Given the description of an element on the screen output the (x, y) to click on. 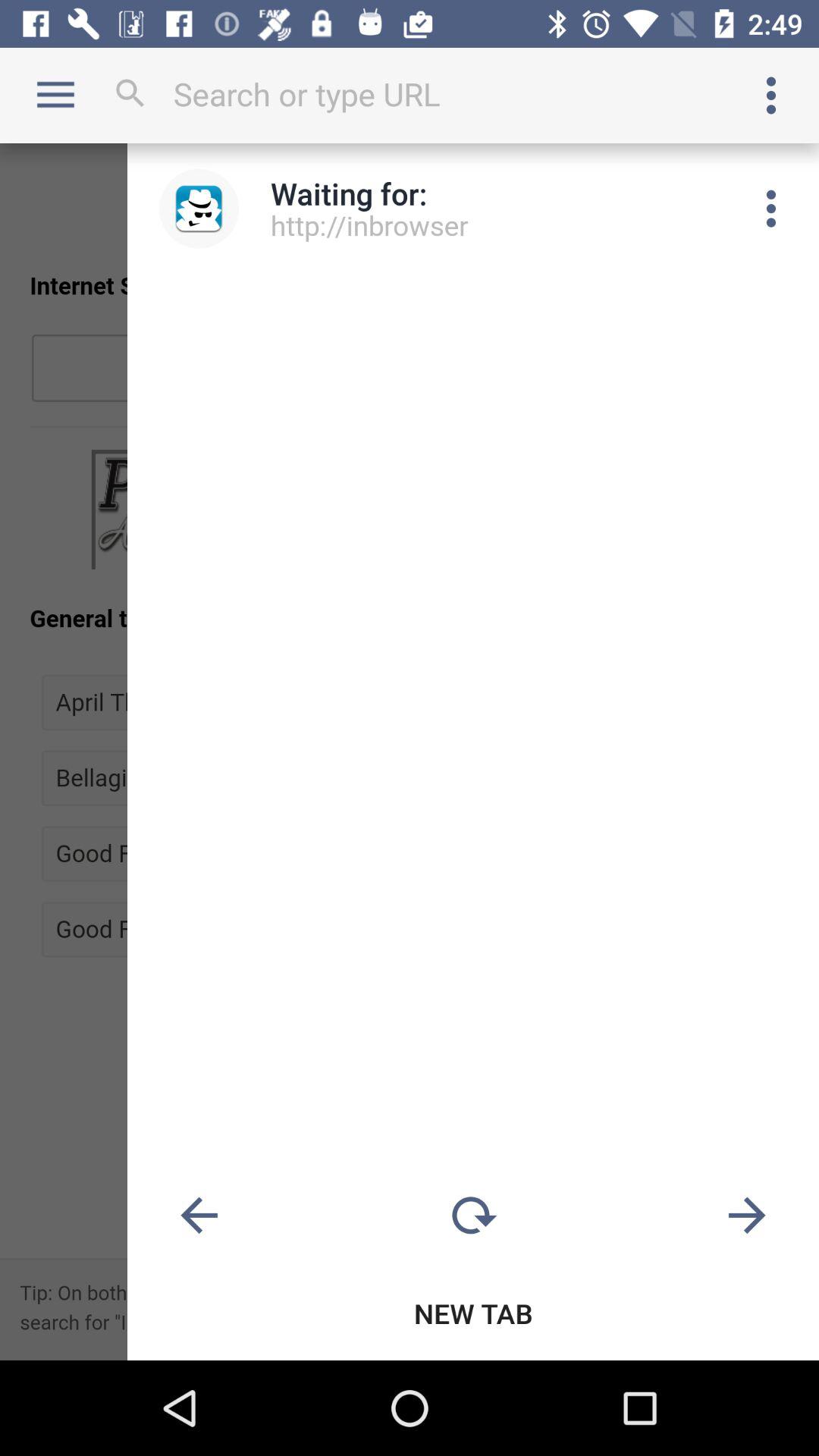
select item next to waiting for: icon (198, 208)
